Given the description of an element on the screen output the (x, y) to click on. 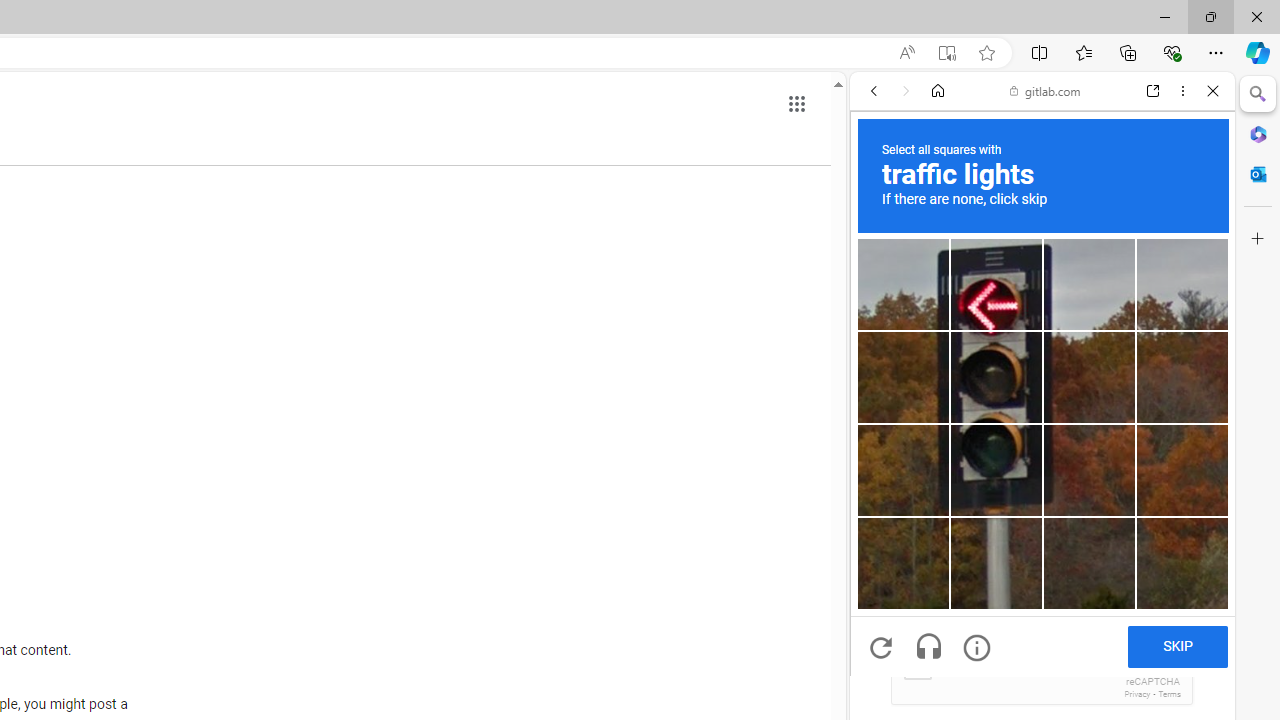
Close Search pane (1258, 94)
Dashboard (1042, 641)
Login (1042, 494)
SKIP (1177, 646)
